Given the description of an element on the screen output the (x, y) to click on. 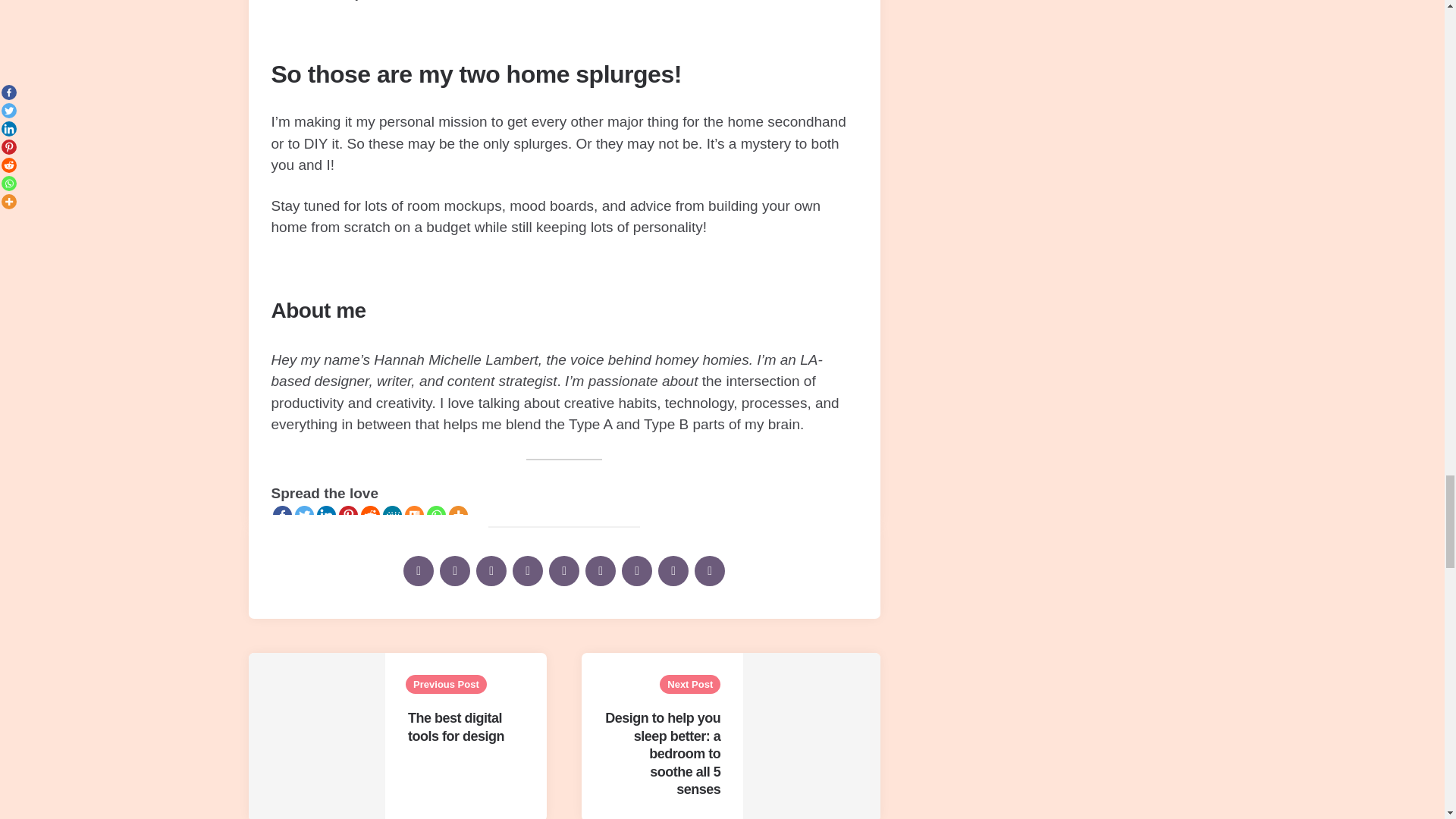
Reddit (370, 515)
Whatsapp (435, 515)
Linkedin (326, 515)
MeWe (391, 515)
Facebook (282, 515)
Mix (413, 515)
More (457, 515)
Twitter (303, 515)
Pinterest (346, 515)
